Given the description of an element on the screen output the (x, y) to click on. 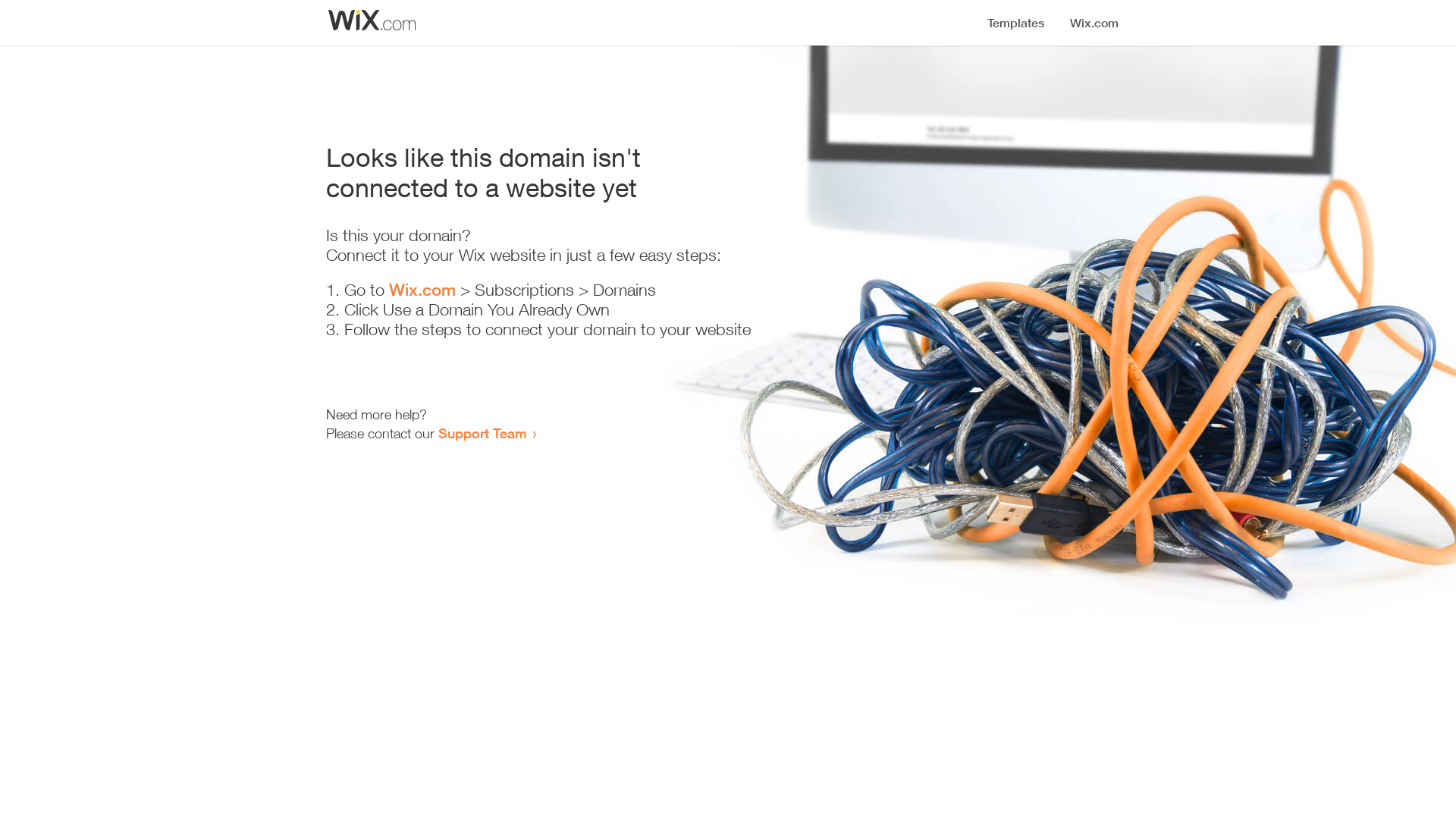
Wix.com Element type: text (422, 289)
Support Team Element type: text (482, 432)
